Given the description of an element on the screen output the (x, y) to click on. 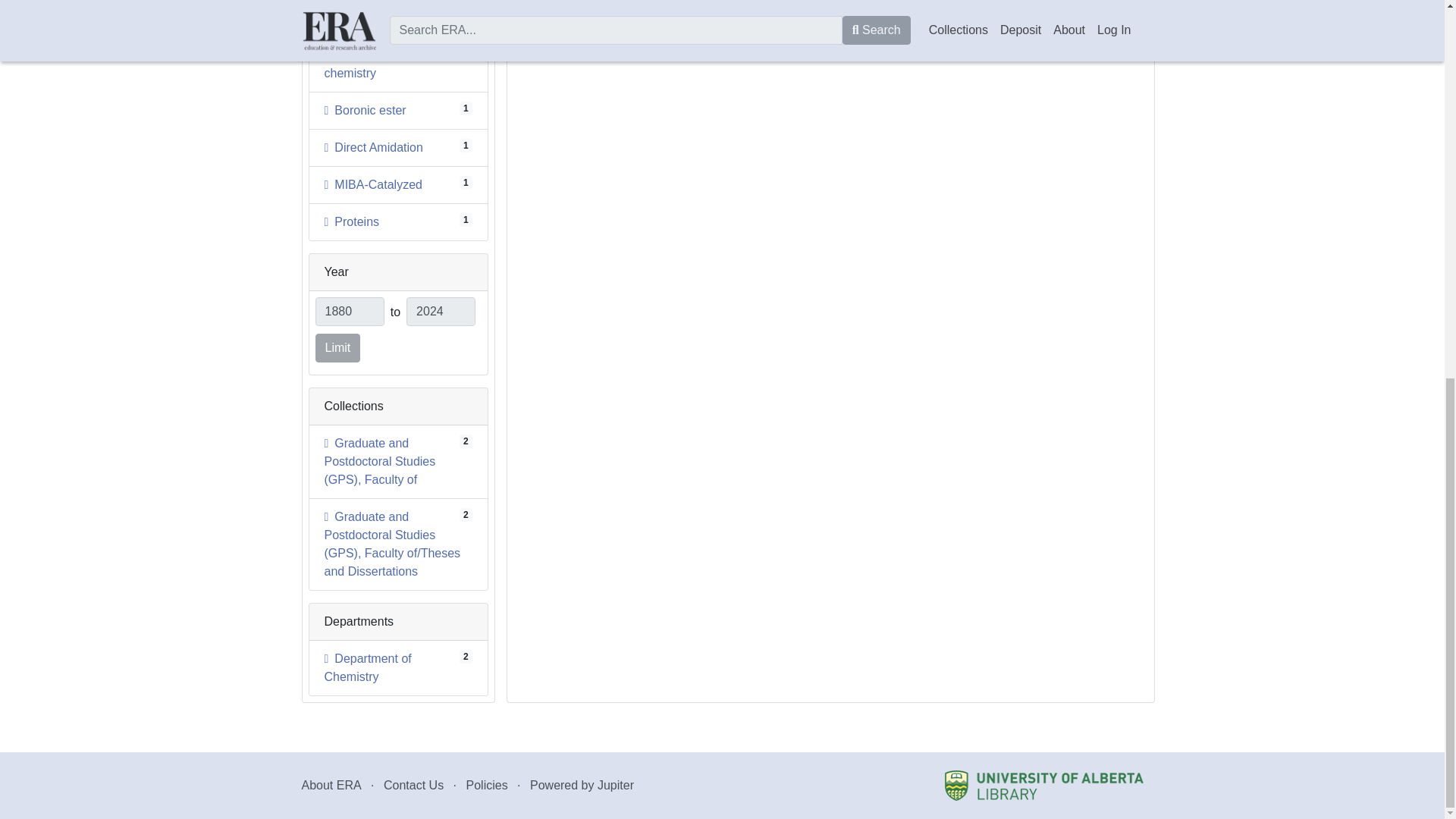
Limit (352, 221)
Limit (365, 110)
2024 (338, 347)
1880 (367, 63)
